Given the description of an element on the screen output the (x, y) to click on. 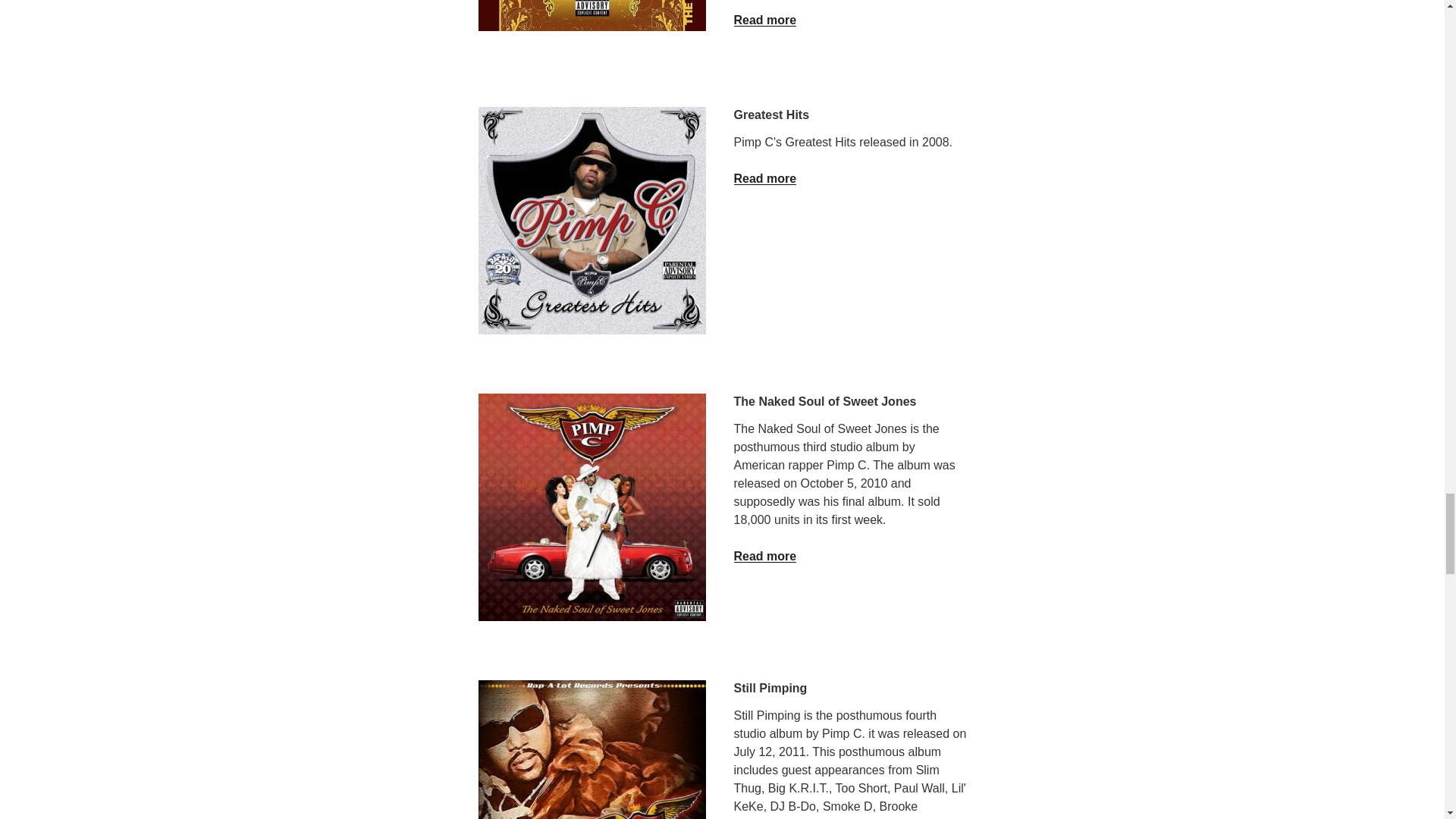
Read more (764, 178)
The Naked Soul of Sweet Jones (590, 506)
Read more (764, 555)
Pimpalation (590, 15)
Greatest Hits (590, 220)
Read more (764, 19)
Still Pimipng (590, 749)
